Given the description of an element on the screen output the (x, y) to click on. 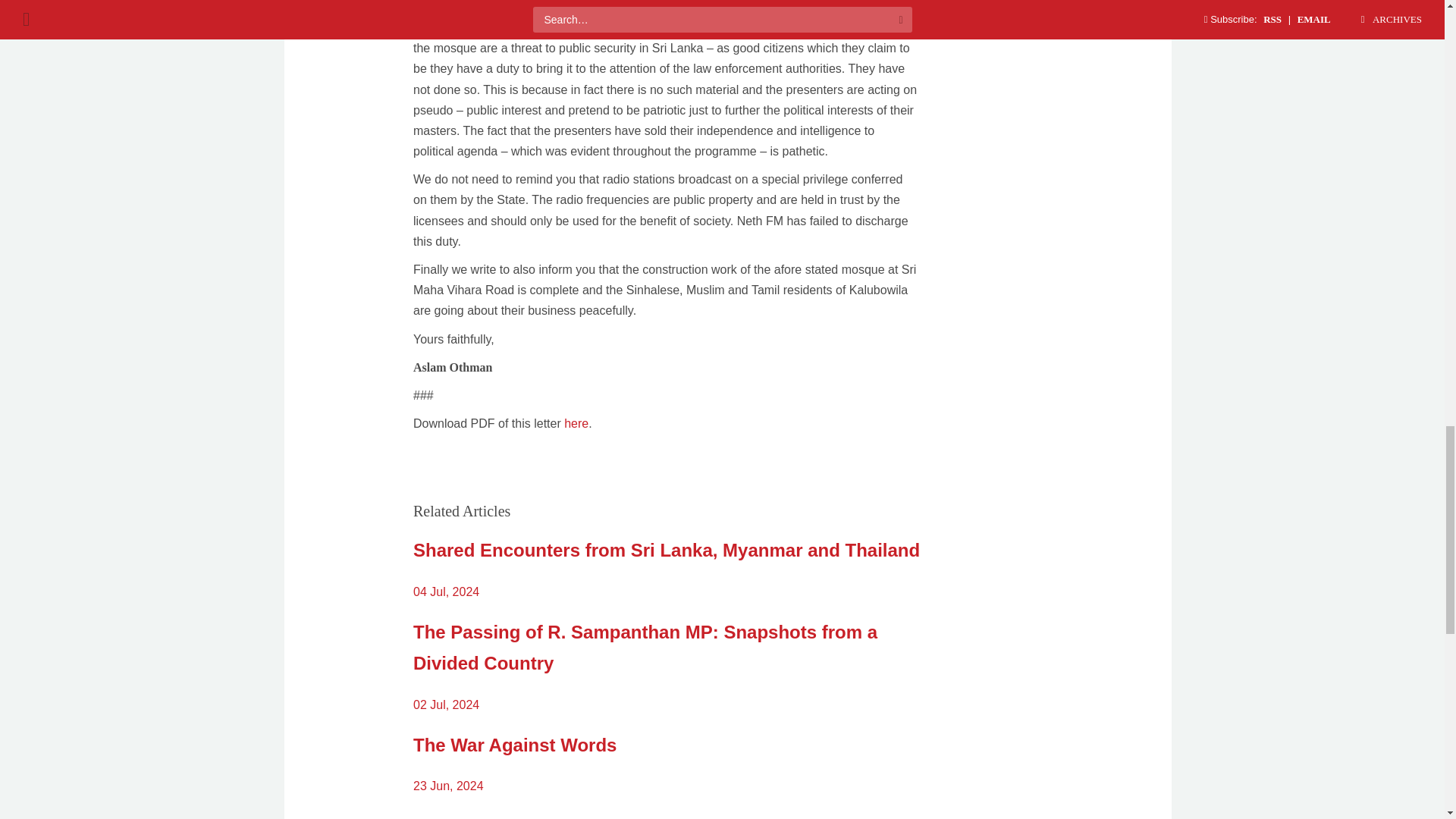
here (576, 422)
